Given the description of an element on the screen output the (x, y) to click on. 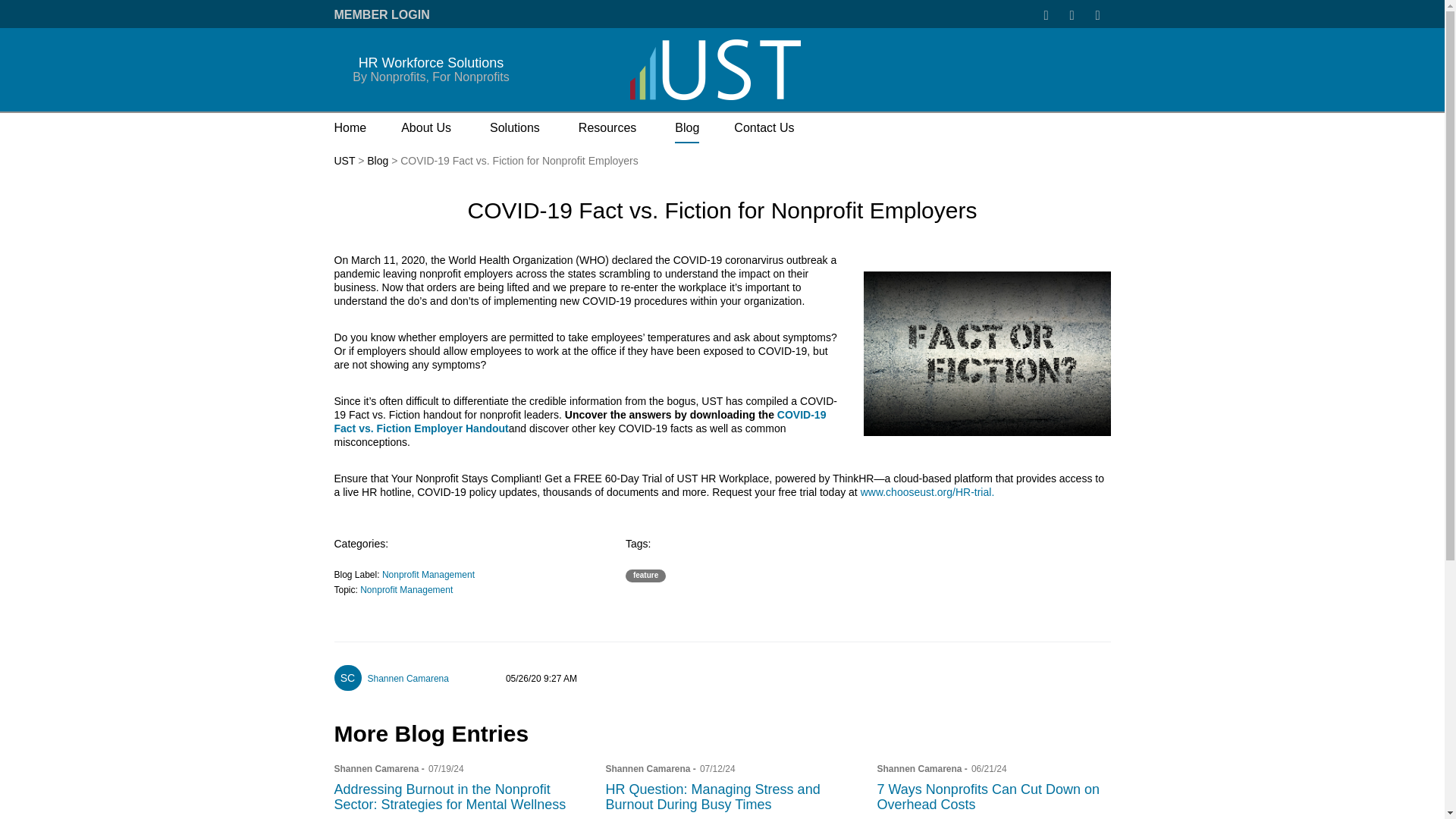
MEMBER LOGIN (381, 14)
